Given the description of an element on the screen output the (x, y) to click on. 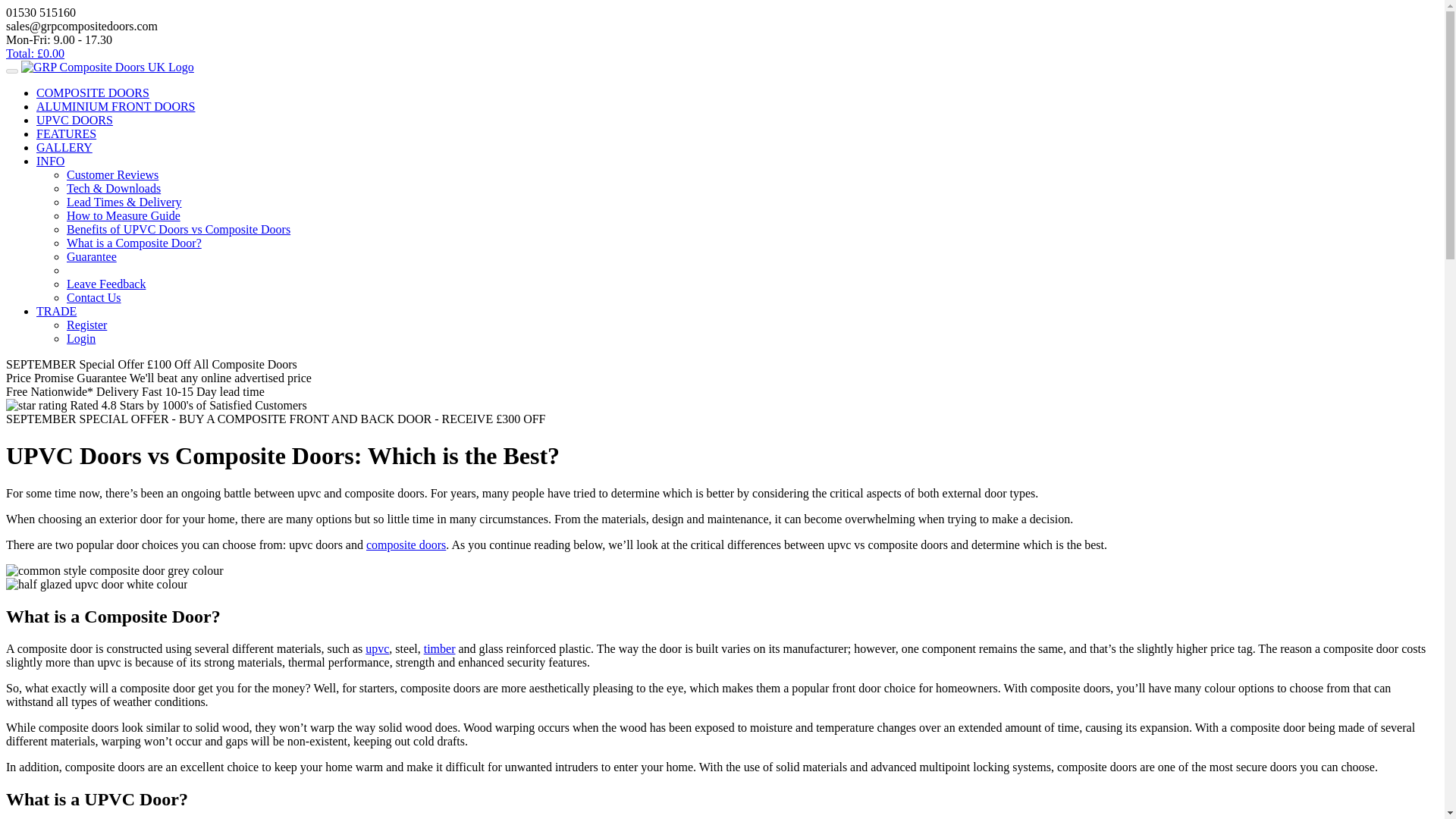
COMPOSITE DOORS (92, 92)
timber (439, 648)
UPVC DOORS (74, 119)
Benefits of UPVC Doors vs Composite Doors (177, 228)
What is a Composite Door? (134, 242)
TRADE (56, 310)
FEATURES (66, 133)
How to Measure Guide (123, 215)
composite doors (405, 544)
Contact Us (93, 297)
